Given the description of an element on the screen output the (x, y) to click on. 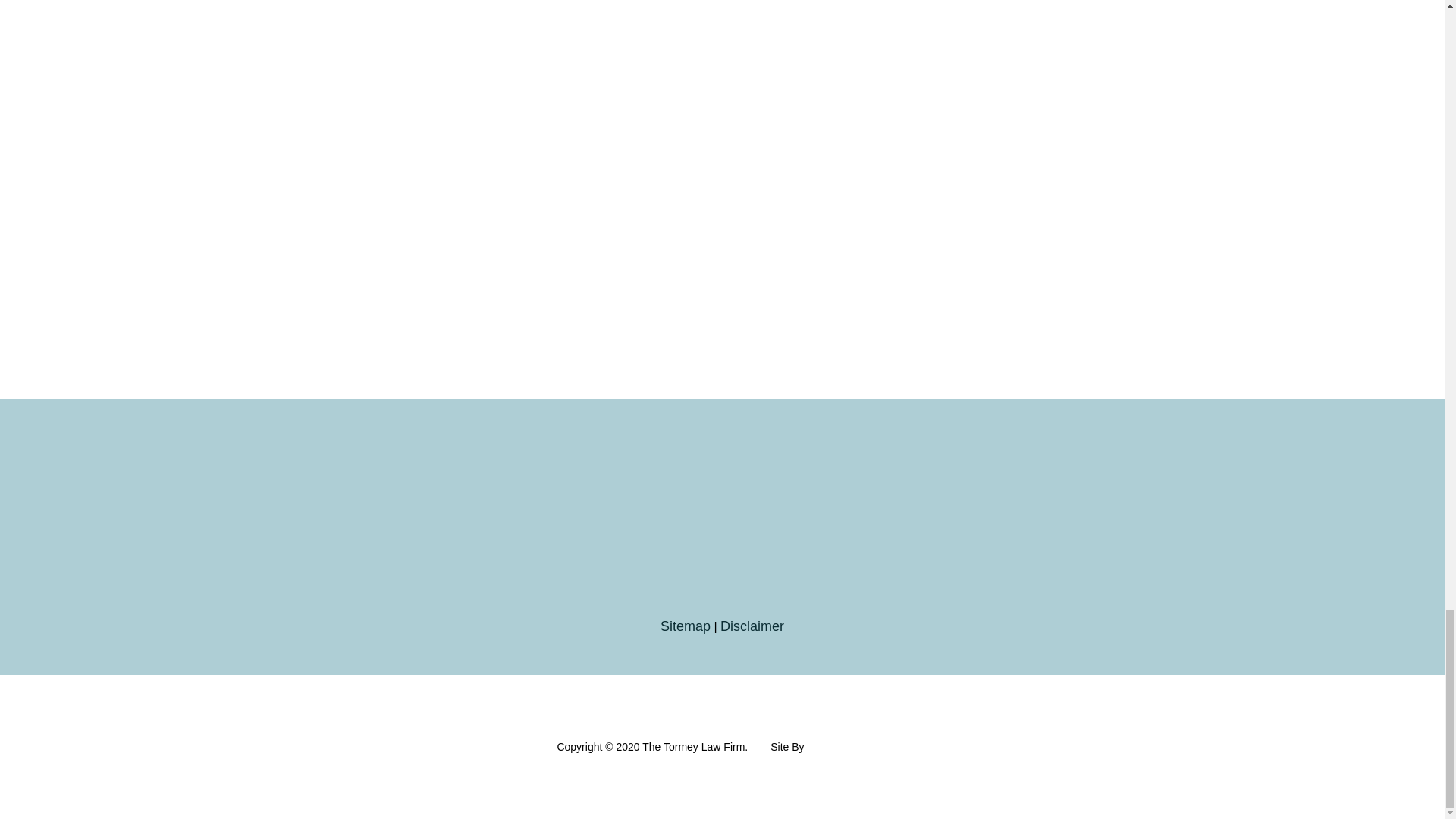
The Tormey Law Firm Sitemap (685, 626)
The Tormey Law Firm Disclaimer (752, 626)
